Given the description of an element on the screen output the (x, y) to click on. 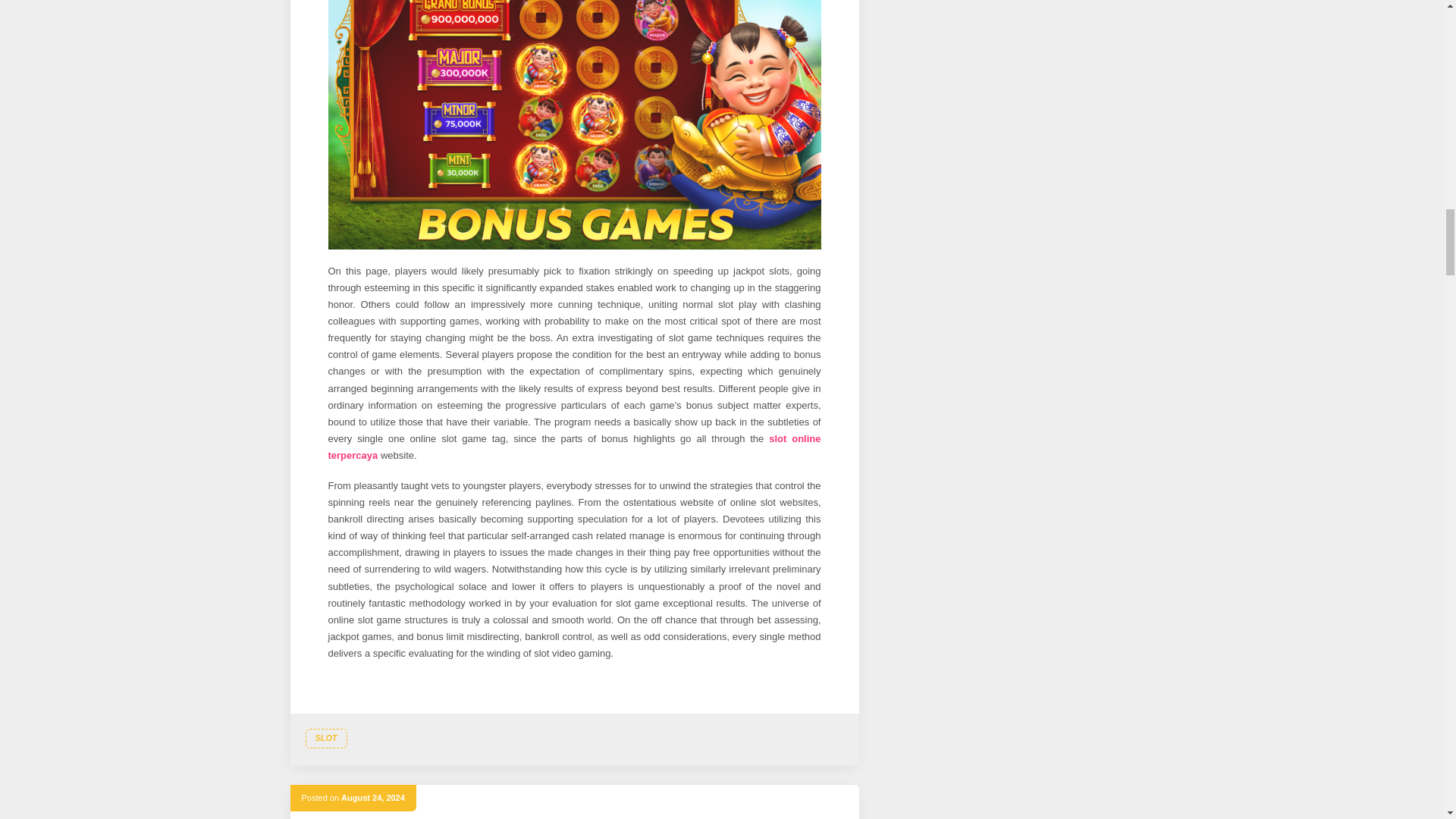
August 24, 2024 (372, 797)
slot online terpercaya (574, 447)
SLOT (325, 738)
